Given the description of an element on the screen output the (x, y) to click on. 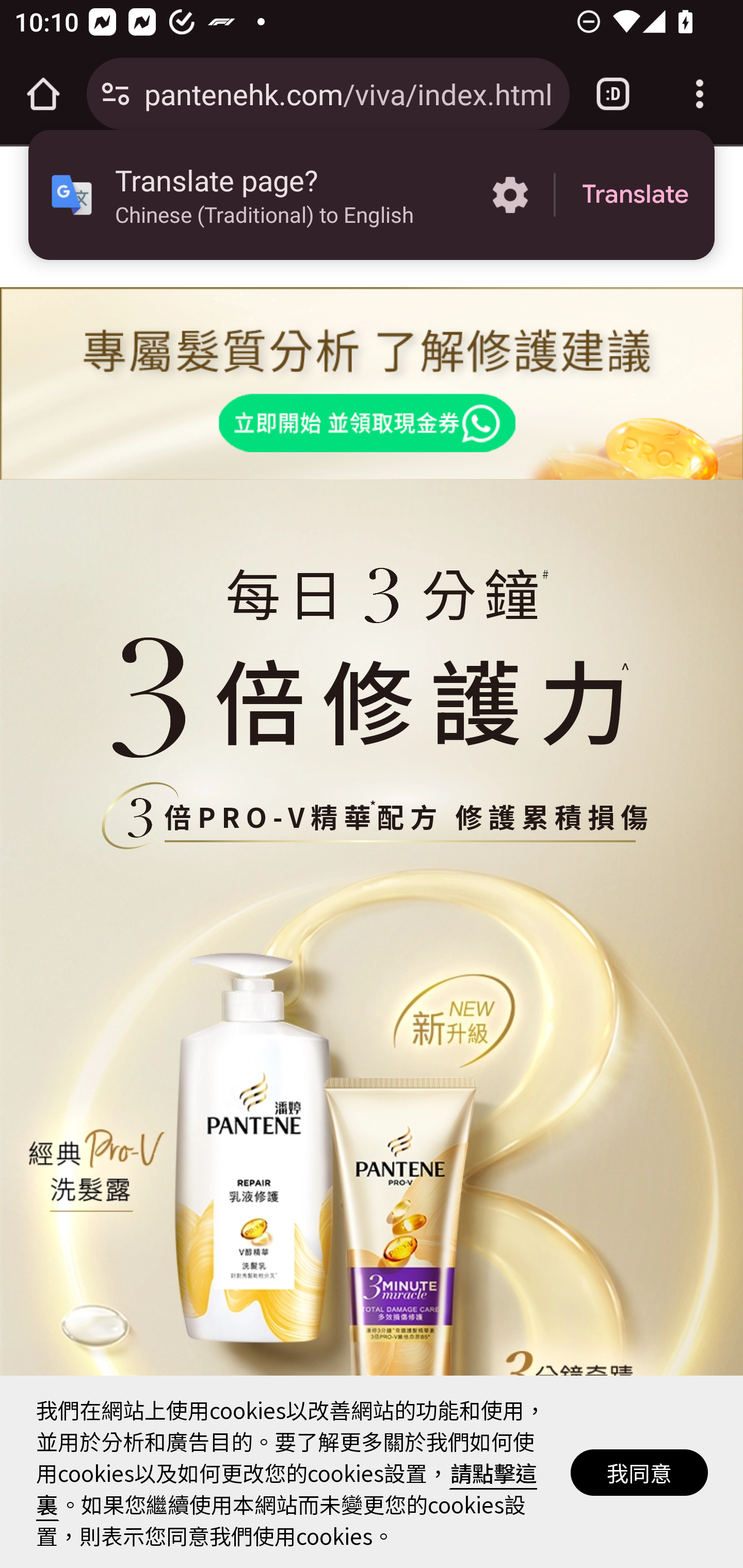
Open the home page (43, 93)
Connection is secure (115, 93)
Switch or close tabs (612, 93)
Customize and control Google Chrome (699, 93)
pantenehk.com/viva/index.html (349, 92)
Translate (634, 195)
More options in the Translate page? (509, 195)
coupon_mb (371, 384)
髮の神仙水系列 (371, 817)
我同意 (639, 1471)
請點擊這裏 (286, 1487)
